Given the description of an element on the screen output the (x, y) to click on. 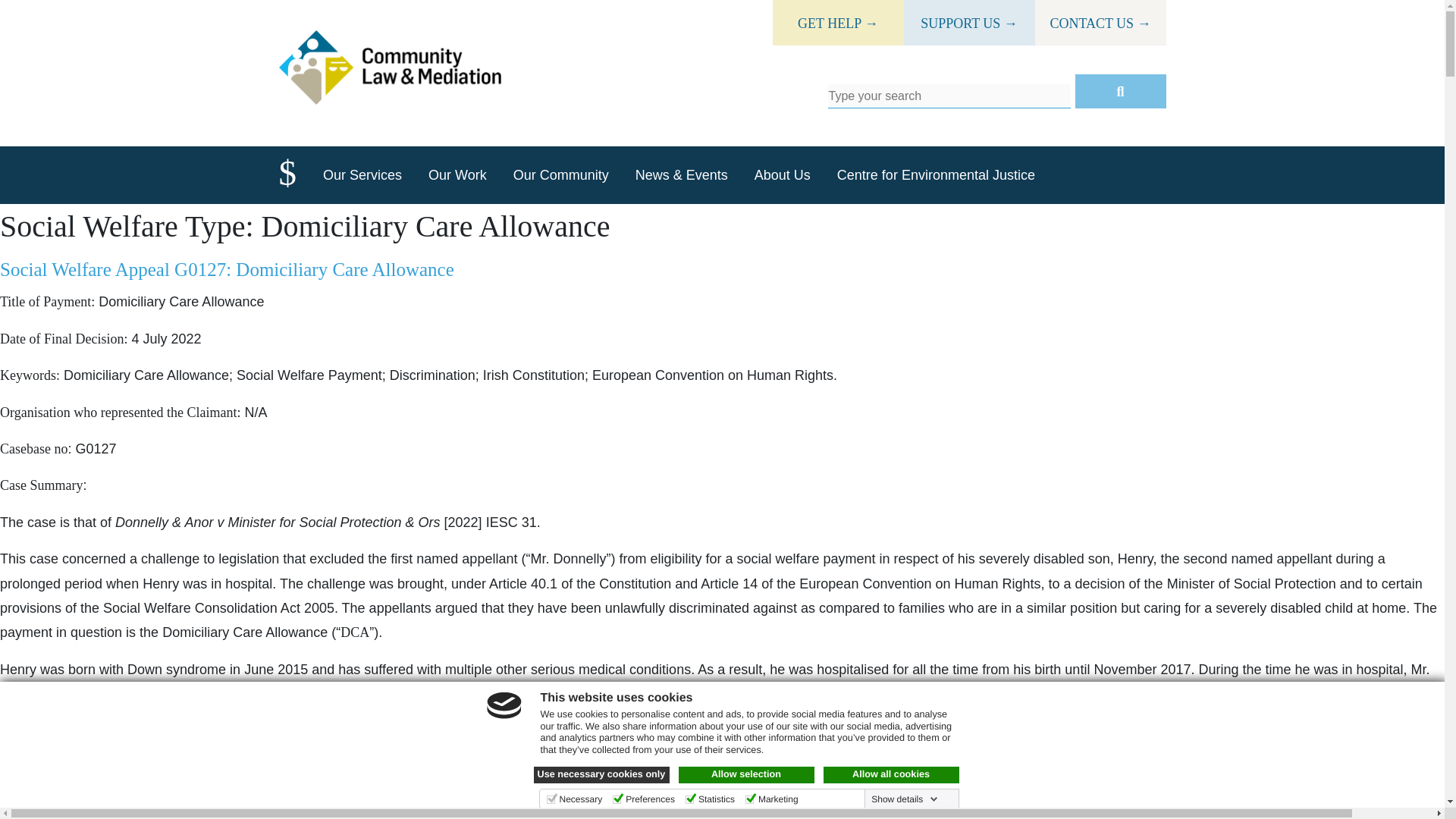
Use necessary cookies only (601, 774)
Allow all cookies (891, 774)
Show details (903, 799)
Allow selection (745, 774)
